Given the description of an element on the screen output the (x, y) to click on. 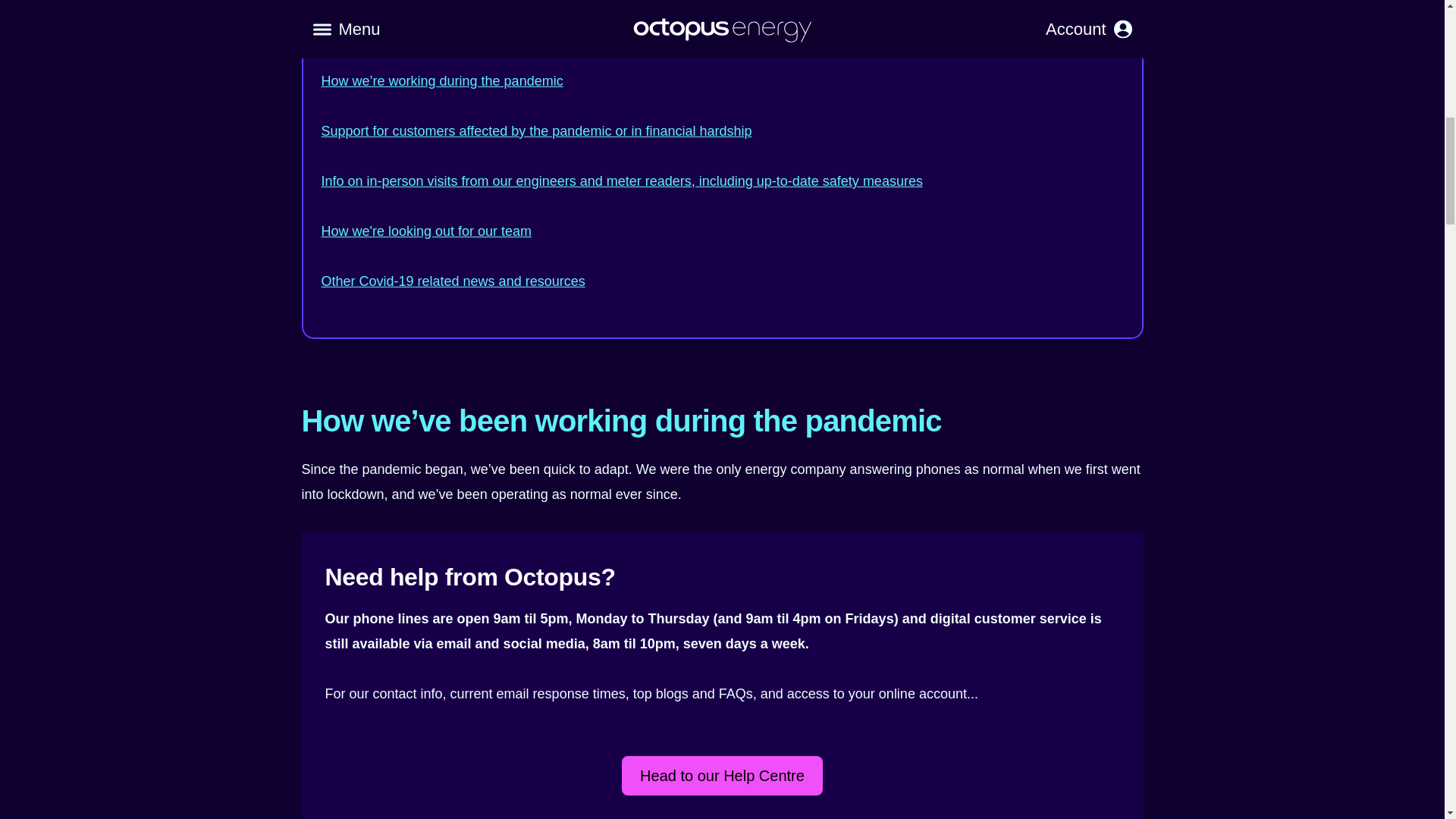
Other Covid-19 related news and resources (453, 281)
How we're looking out for our team (426, 231)
Head to our Help Centre (721, 775)
